Given the description of an element on the screen output the (x, y) to click on. 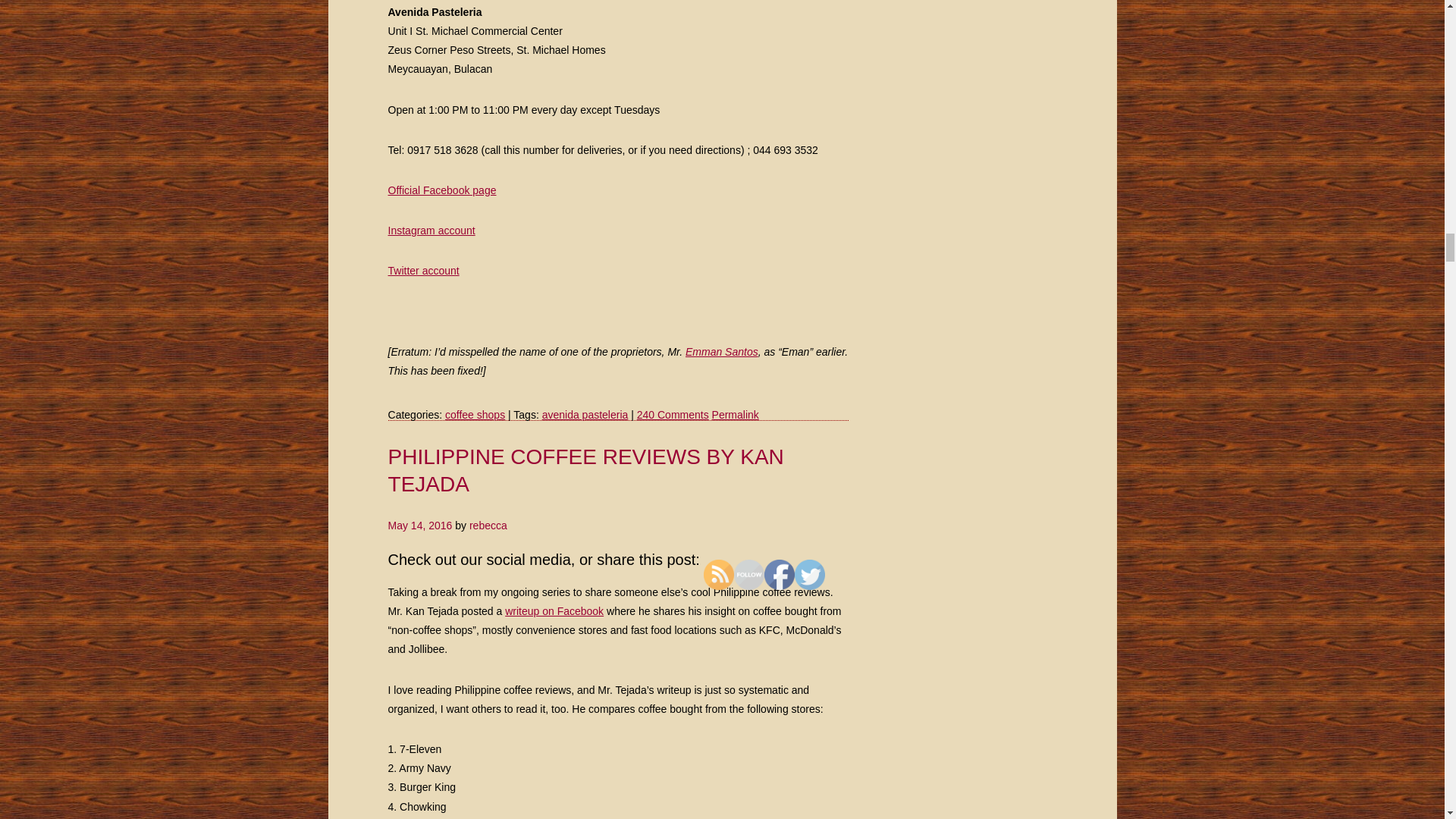
Instagram account (432, 230)
1:57 pm (420, 525)
coffee shops (475, 414)
writeup on Facebook (554, 611)
240 Comments (673, 414)
PHILIPPINE COFFEE REVIEWS BY KAN TEJADA (586, 470)
Permalink to Philippine coffee reviews by Kan Tejada (586, 470)
View all posts by rebecca (487, 525)
Emman Santos (721, 351)
rebecca (487, 525)
